Given the description of an element on the screen output the (x, y) to click on. 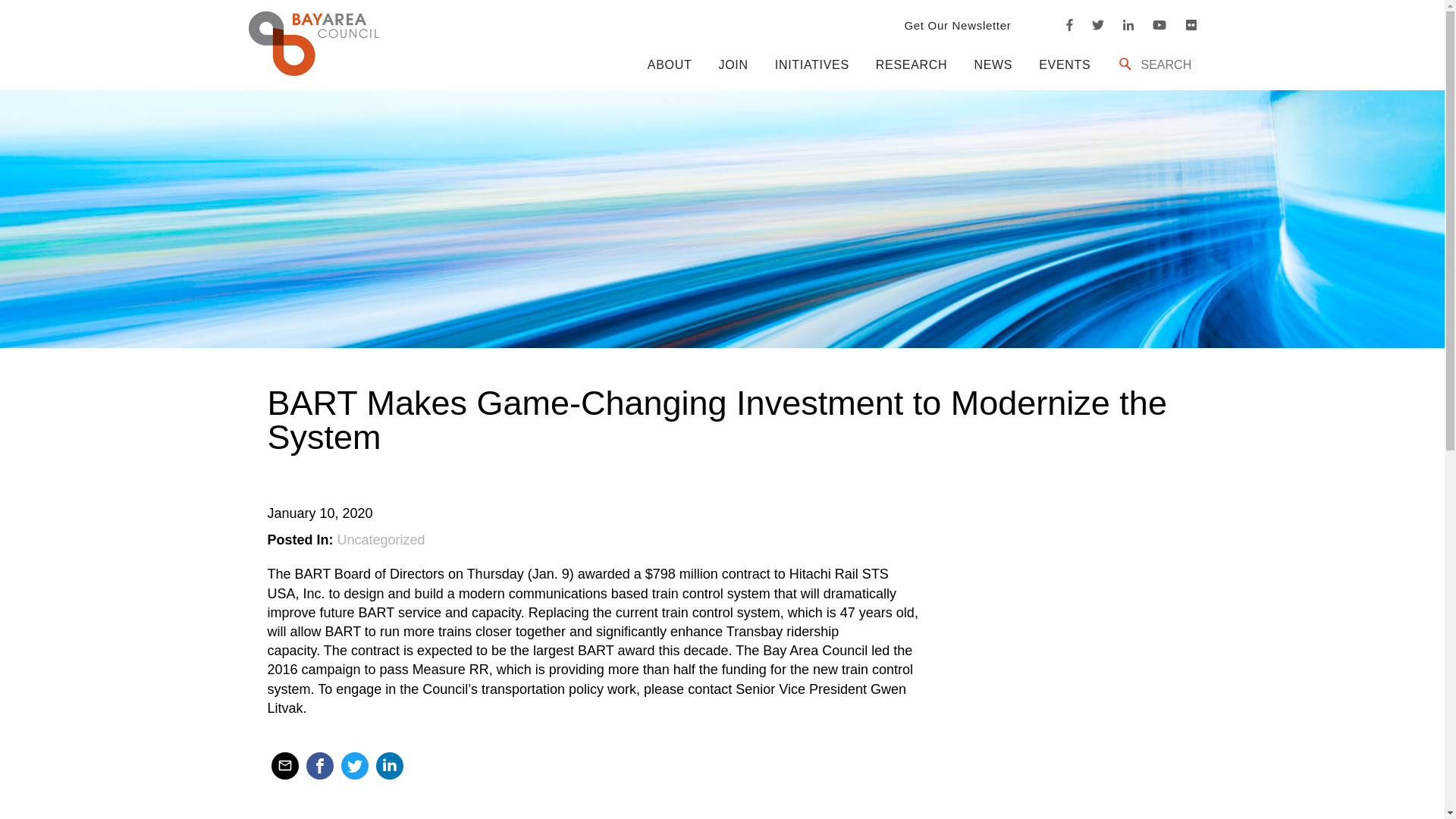
ABOUT (670, 64)
JOIN (732, 64)
RESEARCH (911, 64)
Share on Twitter (354, 765)
Get Our Newsletter (957, 24)
Email to a friend (284, 765)
View all in Uncategorized (381, 539)
Share on Facebook (319, 765)
Share on LinkedIn (389, 765)
NEWS (992, 64)
